Given the description of an element on the screen output the (x, y) to click on. 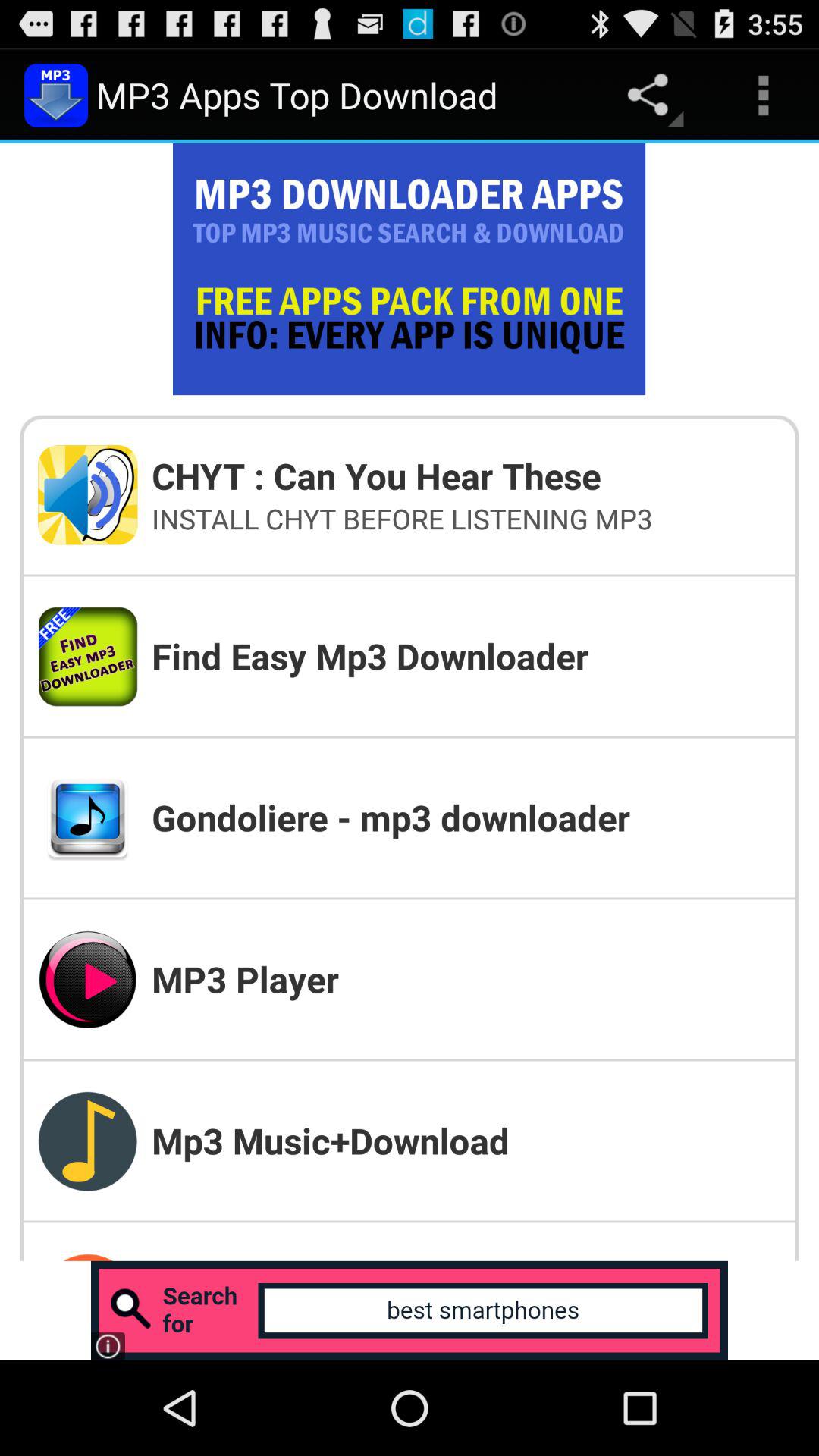
click item below the gondoliere - mp3 downloader item (465, 978)
